Given the description of an element on the screen output the (x, y) to click on. 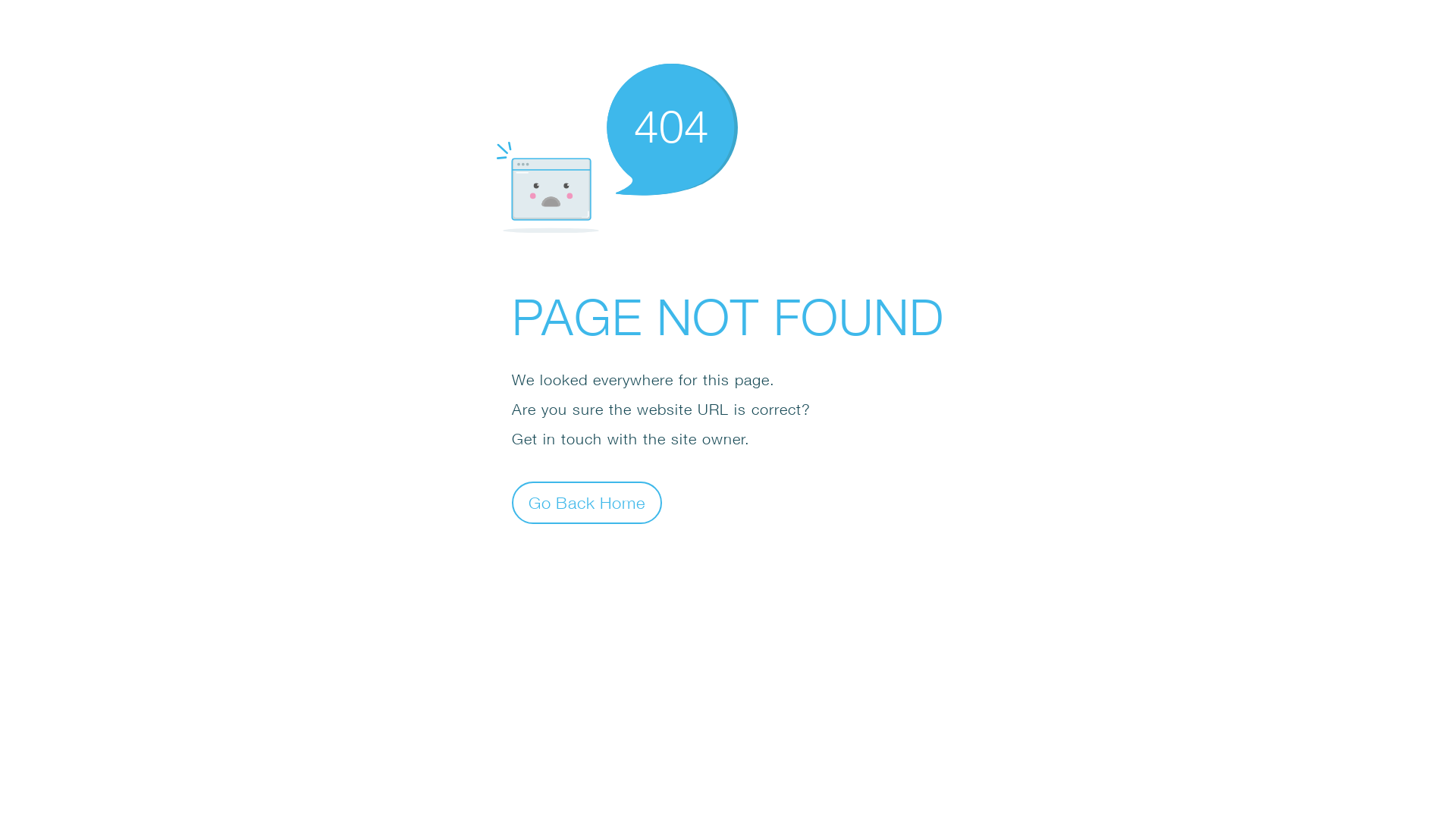
Go Back Home Element type: text (586, 502)
